Given the description of an element on the screen output the (x, y) to click on. 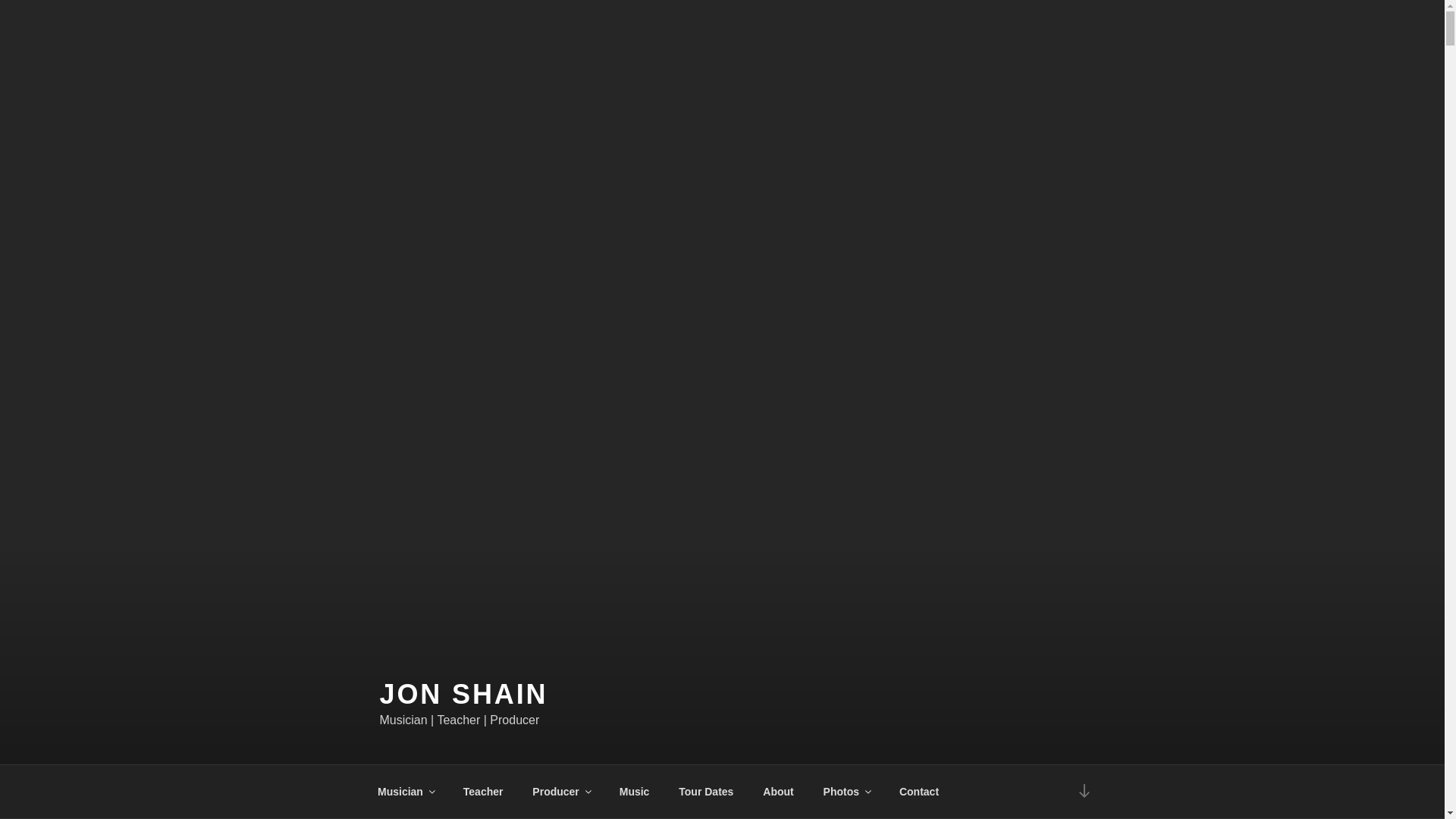
JON SHAIN (462, 694)
Teacher (482, 791)
About (777, 791)
Producer (560, 791)
Photos (845, 791)
Music (633, 791)
Musician (405, 791)
Contact (918, 791)
Tour Dates (705, 791)
Scroll down to content (1082, 791)
